Given the description of an element on the screen output the (x, y) to click on. 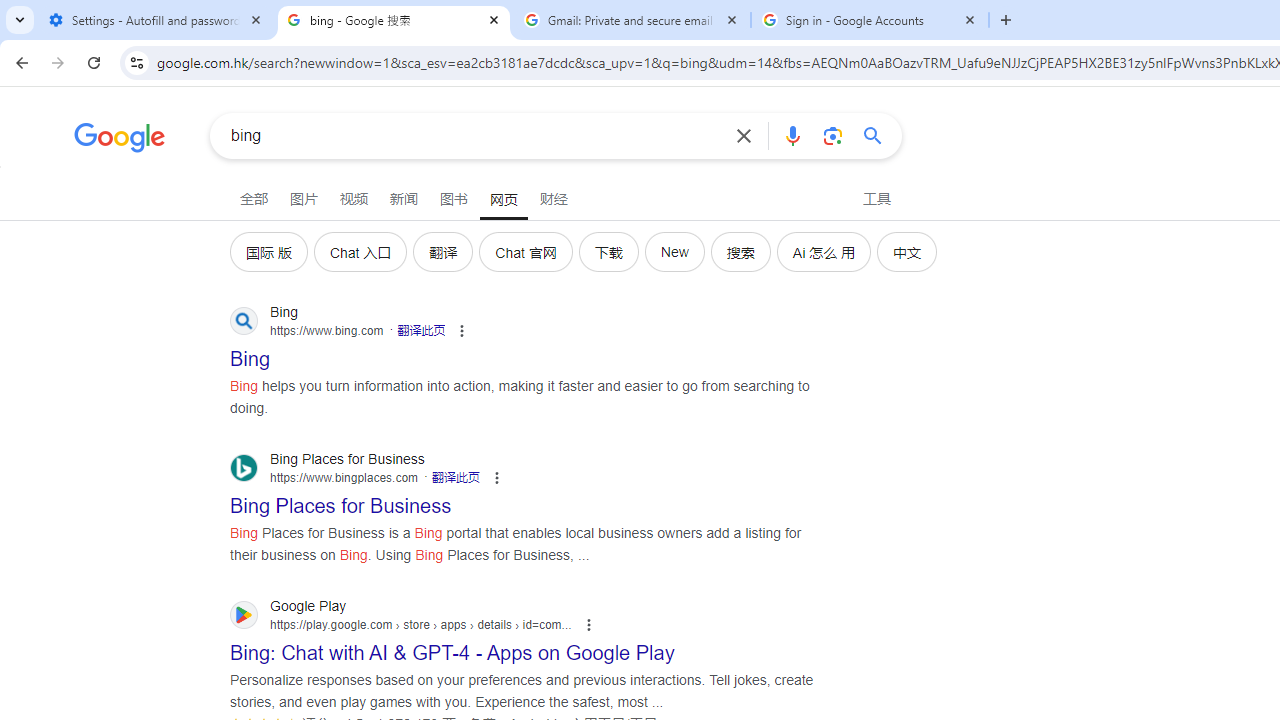
Settings - Autofill and passwords (156, 20)
